Given the description of an element on the screen output the (x, y) to click on. 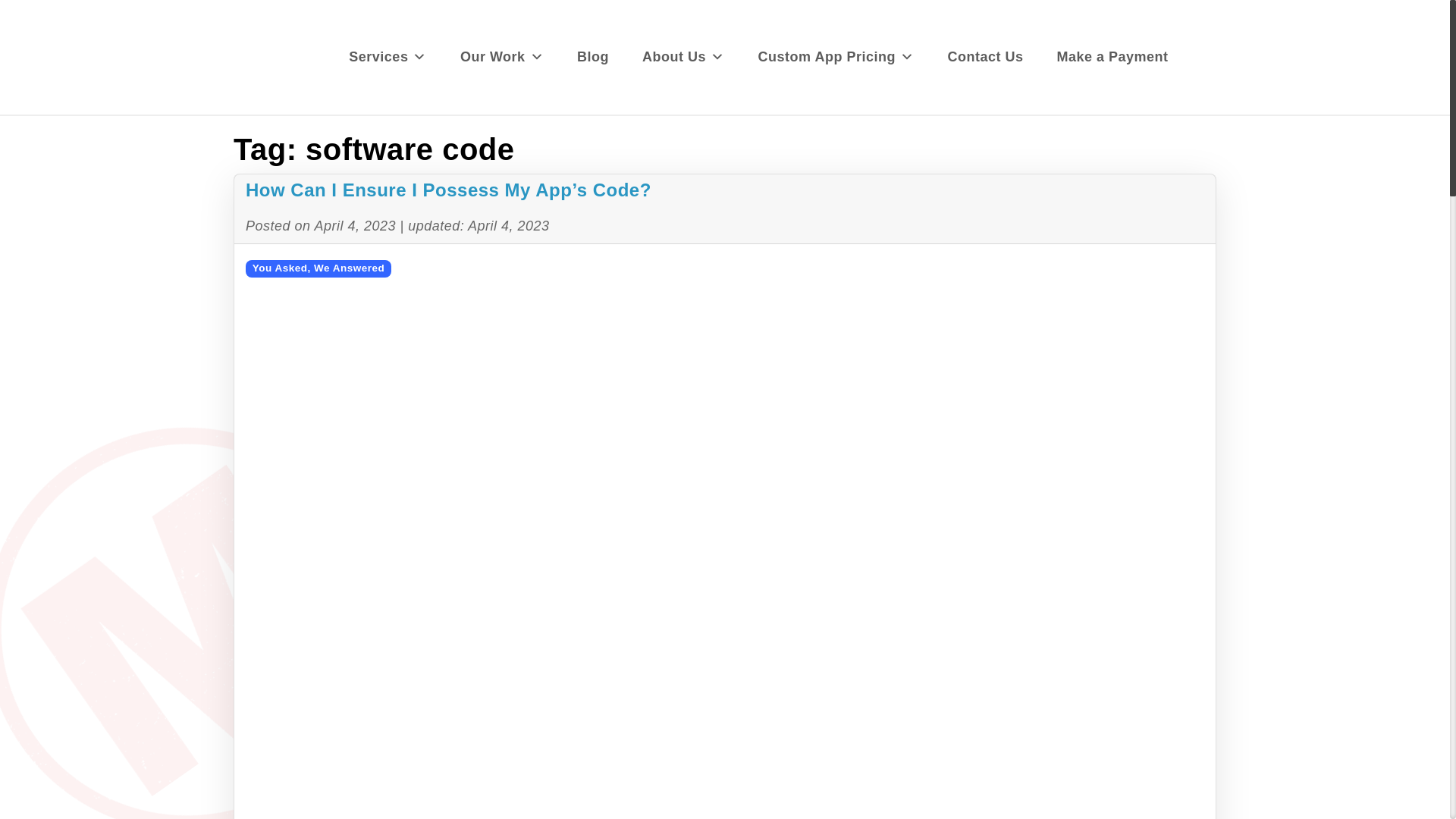
Make a Payment (1111, 56)
Skip to main content (71, 2)
Our Work (501, 56)
Blog (592, 56)
Services (386, 56)
Contact Us (984, 56)
Custom App Pricing (836, 56)
About Us (683, 56)
